Given the description of an element on the screen output the (x, y) to click on. 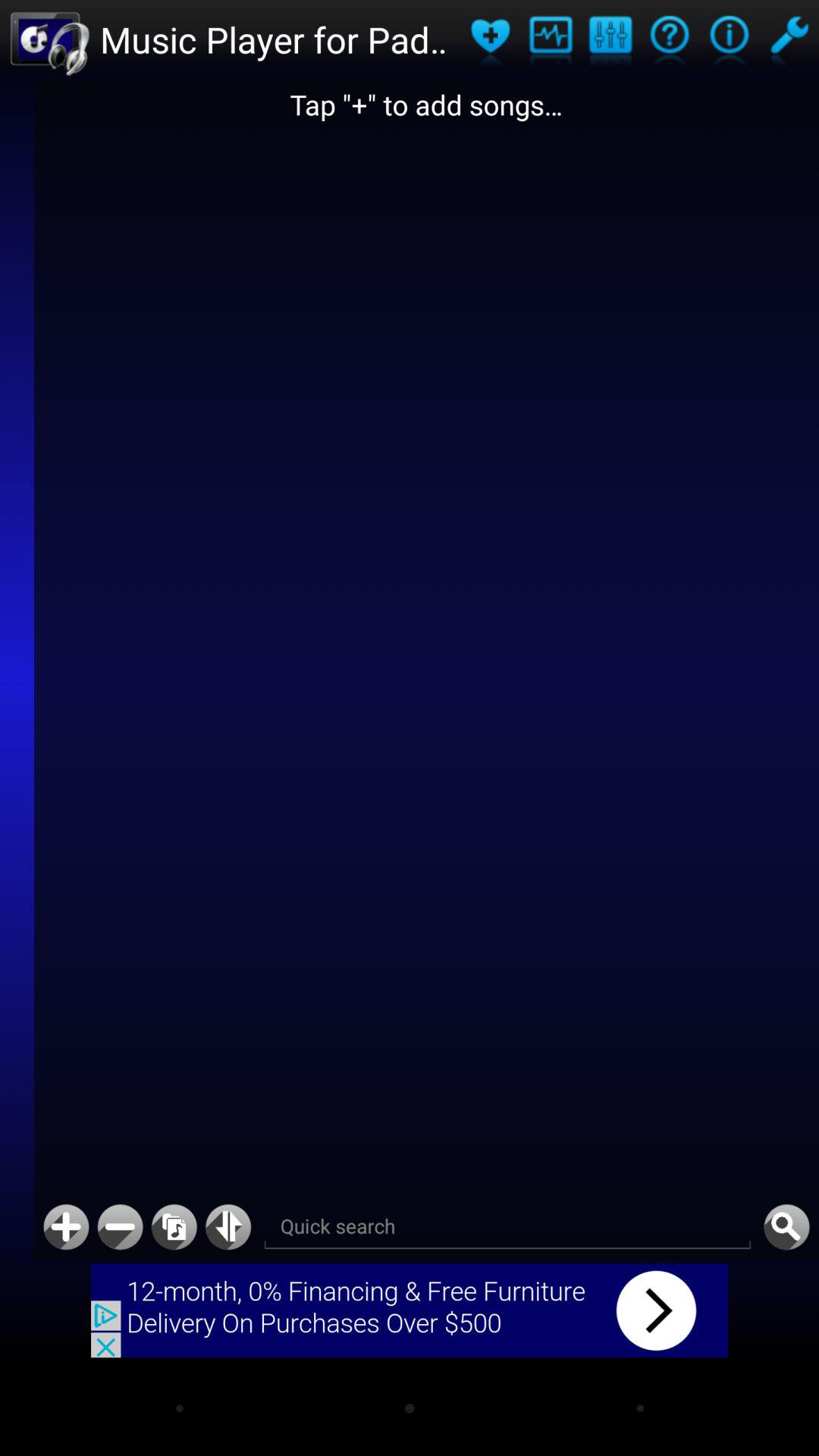
go to tools (789, 39)
